Given the description of an element on the screen output the (x, y) to click on. 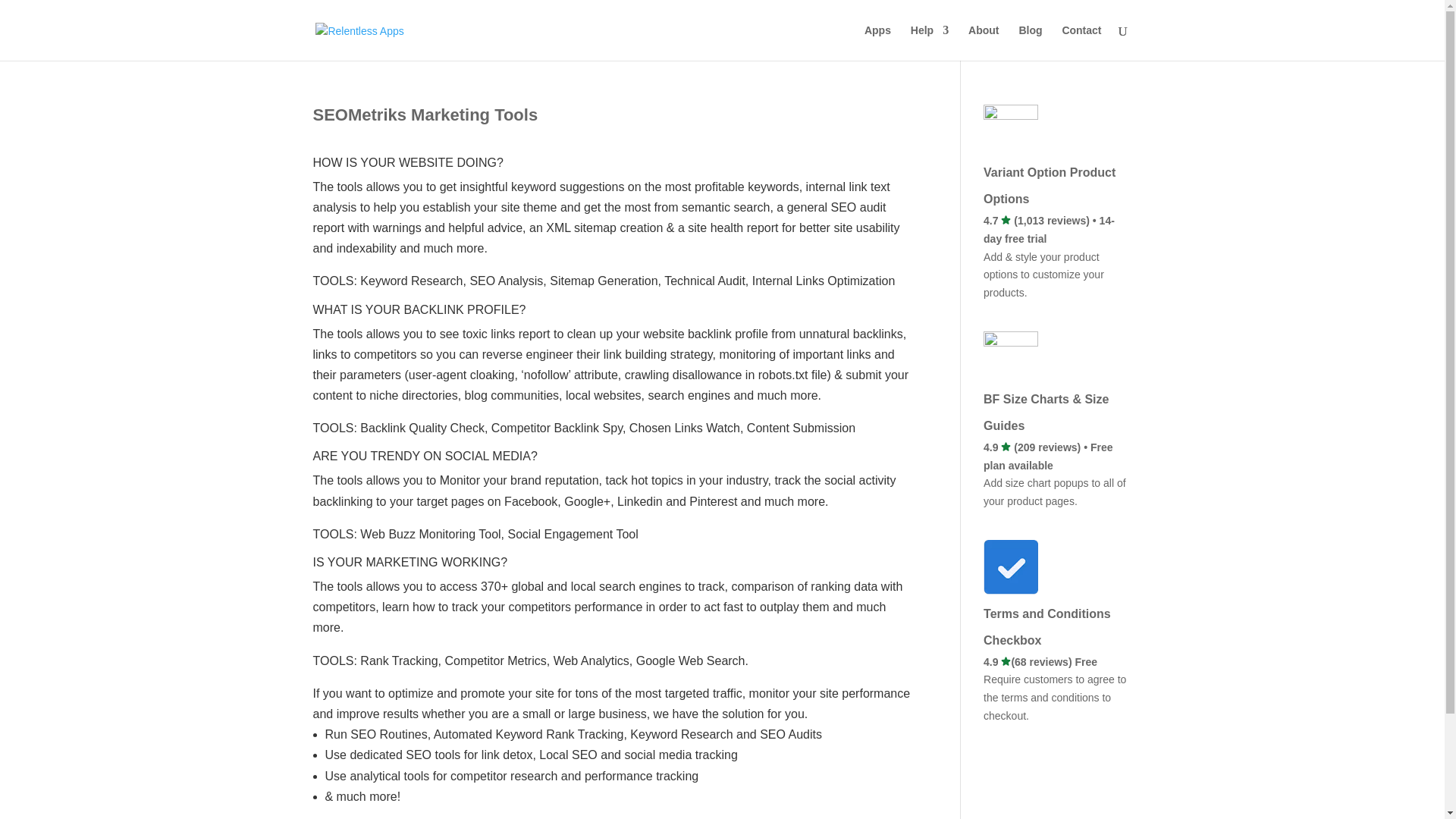
Terms and Conditions Checkbox (1057, 634)
Add size chart popups to all of your product pages. (1054, 500)
Contact (1080, 42)
Variant Option Product Options (1057, 160)
Help (930, 42)
